Given the description of an element on the screen output the (x, y) to click on. 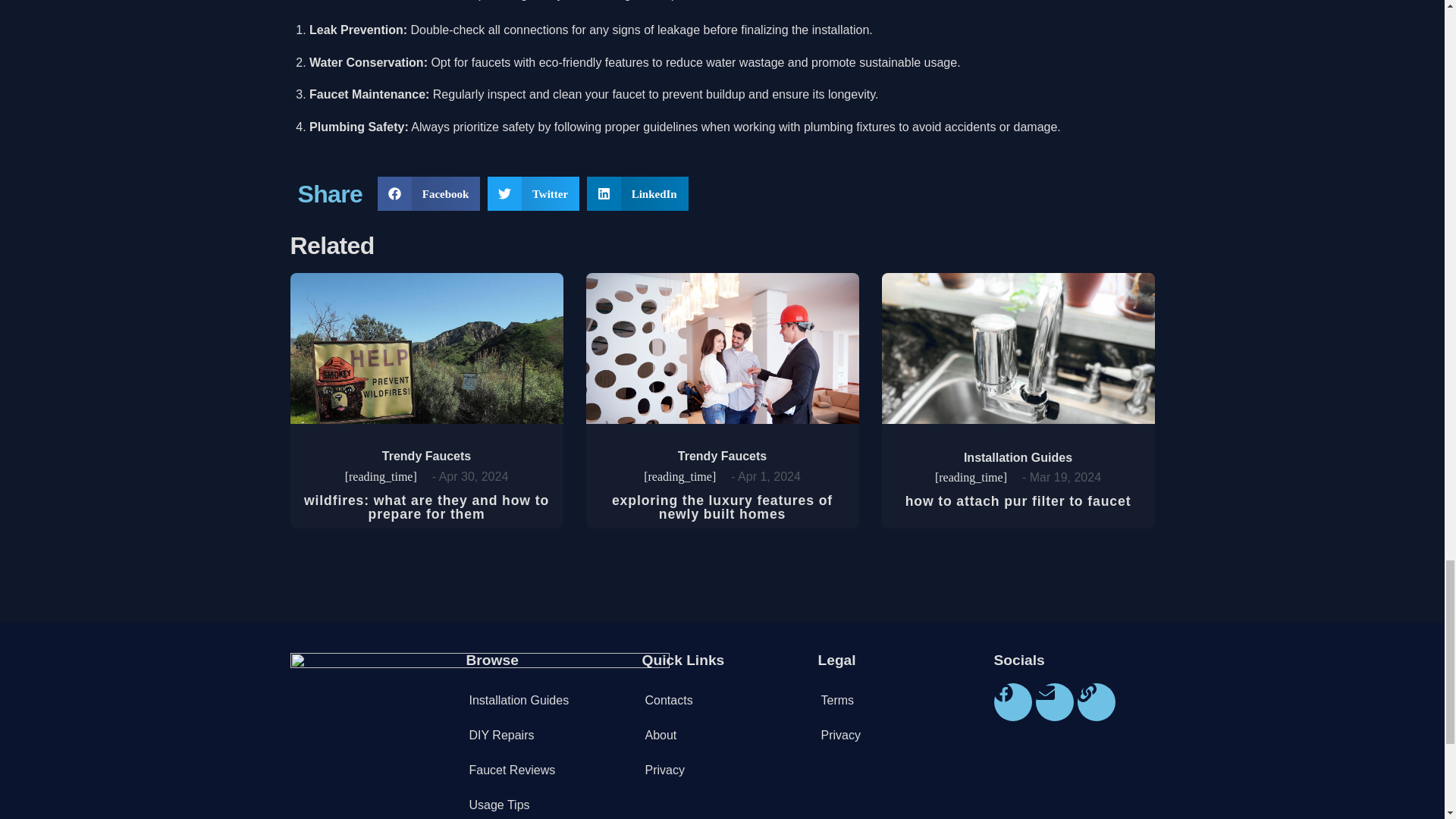
Terms (897, 700)
exploring the luxury features of newly built homes (721, 507)
Contacts (722, 700)
Faucet Reviews (545, 769)
Privacy (897, 735)
how to attach pur filter to faucet (1018, 500)
Installation Guides (1017, 457)
wildfires: what are they and how to prepare for them (426, 507)
DIY Repairs (545, 735)
Usage Tips (545, 803)
Privacy (722, 769)
Trendy Faucets (425, 455)
Trendy Faucets (722, 455)
About (722, 735)
Installation Guides (545, 700)
